Given the description of an element on the screen output the (x, y) to click on. 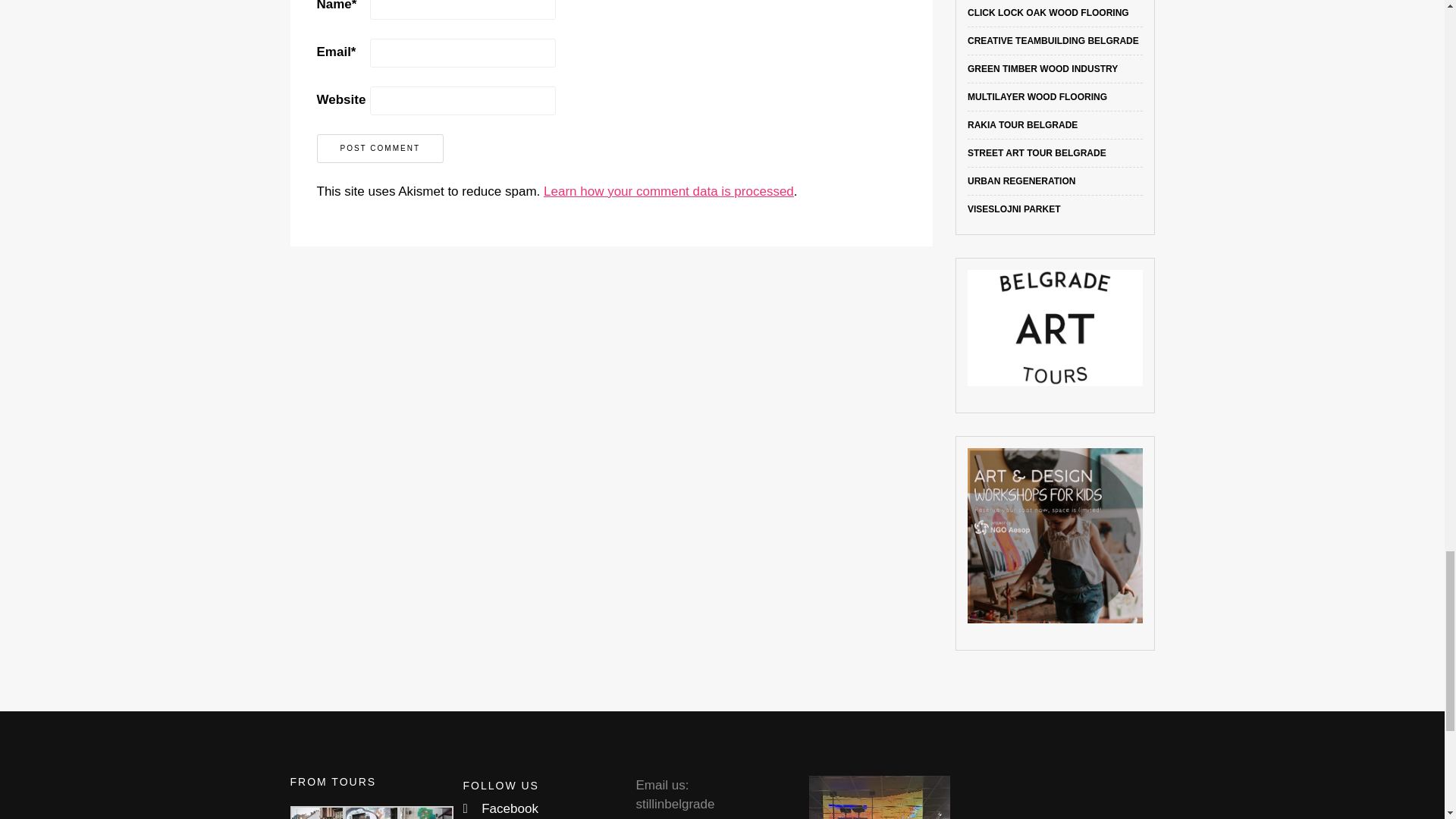
Street Art Tour with Workshop Belgrade  (1037, 153)
Belgrade Rakia Tour  (1022, 124)
Post comment (380, 148)
